Given the description of an element on the screen output the (x, y) to click on. 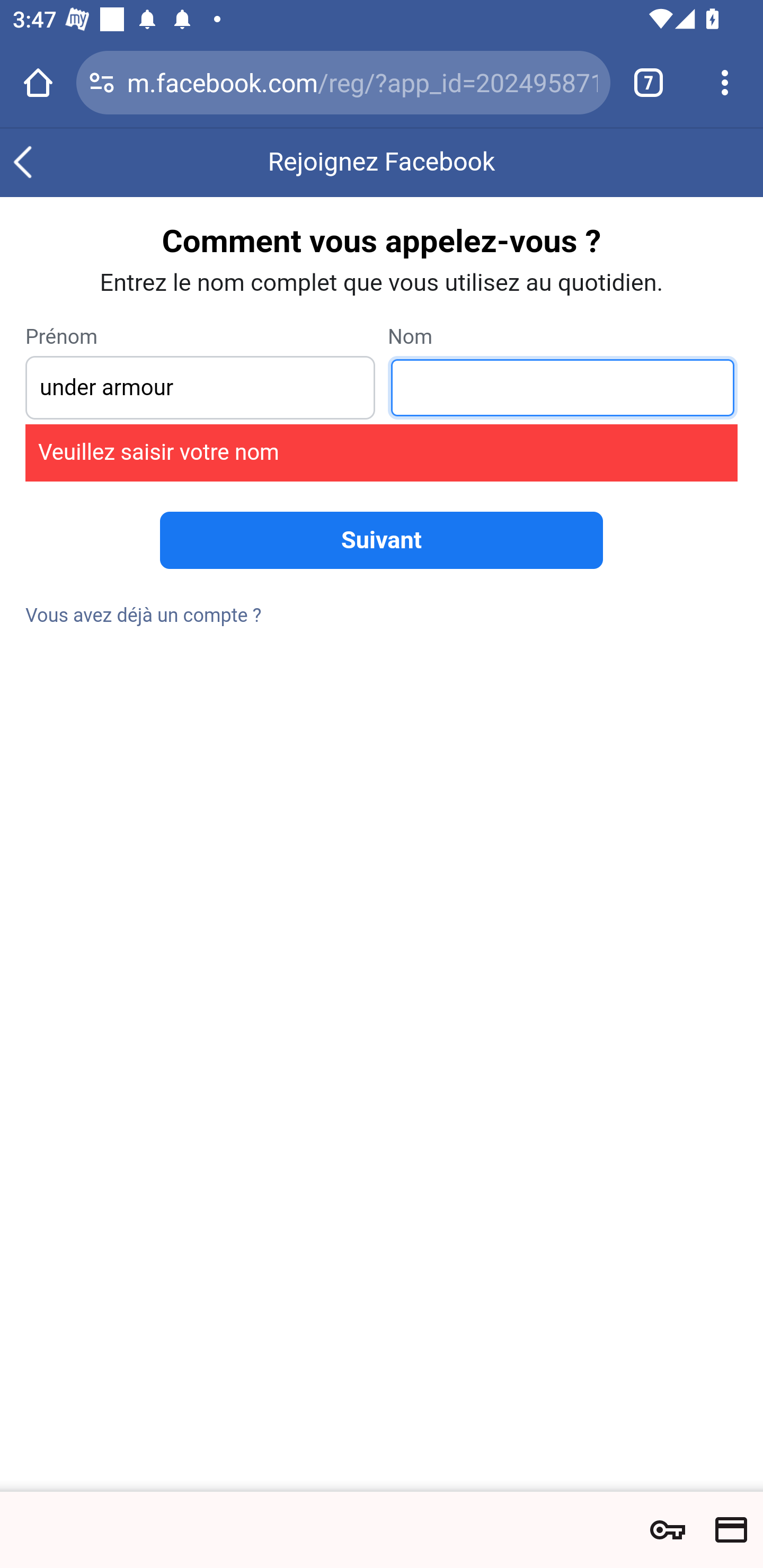
Open the home page (38, 82)
Connection is secure (101, 82)
Switch or close tabs (648, 82)
Customize and control Google Chrome (724, 82)
Show saved passwords and password options (667, 1530)
Show saved payment methods (731, 1530)
